Given the description of an element on the screen output the (x, y) to click on. 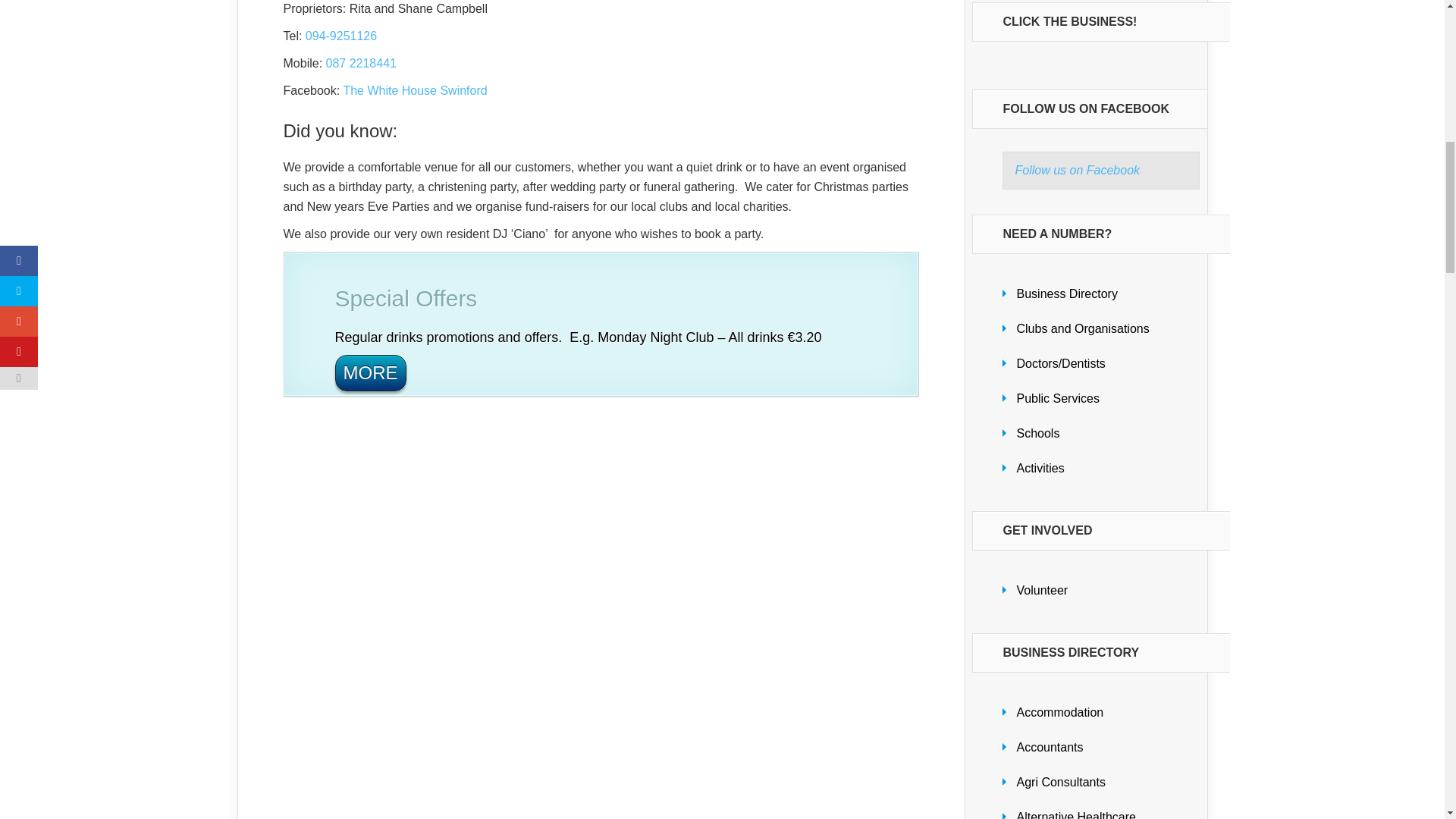
094-9251126 (341, 35)
087 2218441 (361, 62)
MORE (370, 372)
The White House Swinford (414, 90)
